Given the description of an element on the screen output the (x, y) to click on. 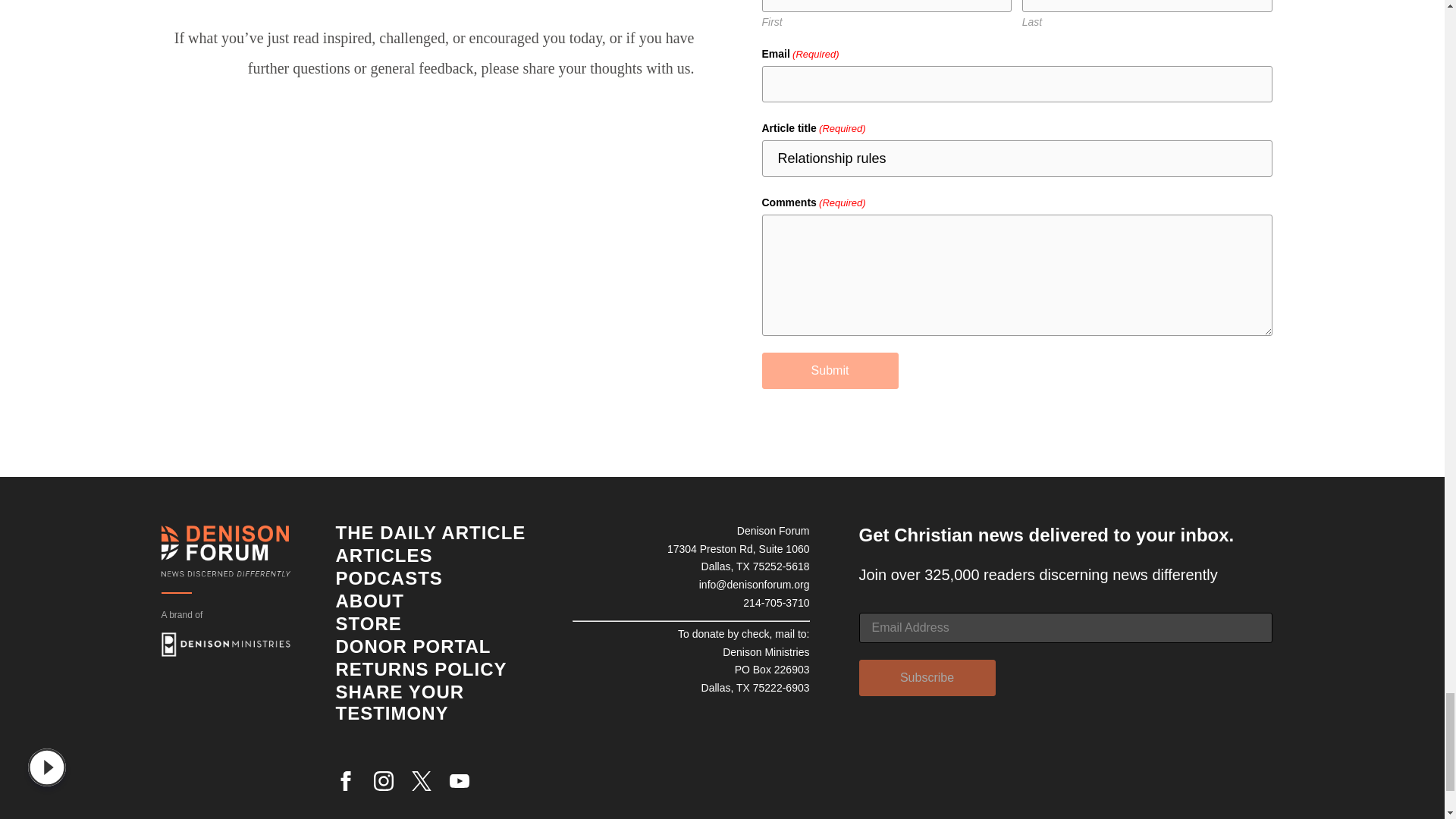
Submit (829, 370)
Relationship rules (1016, 158)
Opens in a new window (224, 644)
Subscribe (926, 678)
The Daily Article (429, 532)
